Given the description of an element on the screen output the (x, y) to click on. 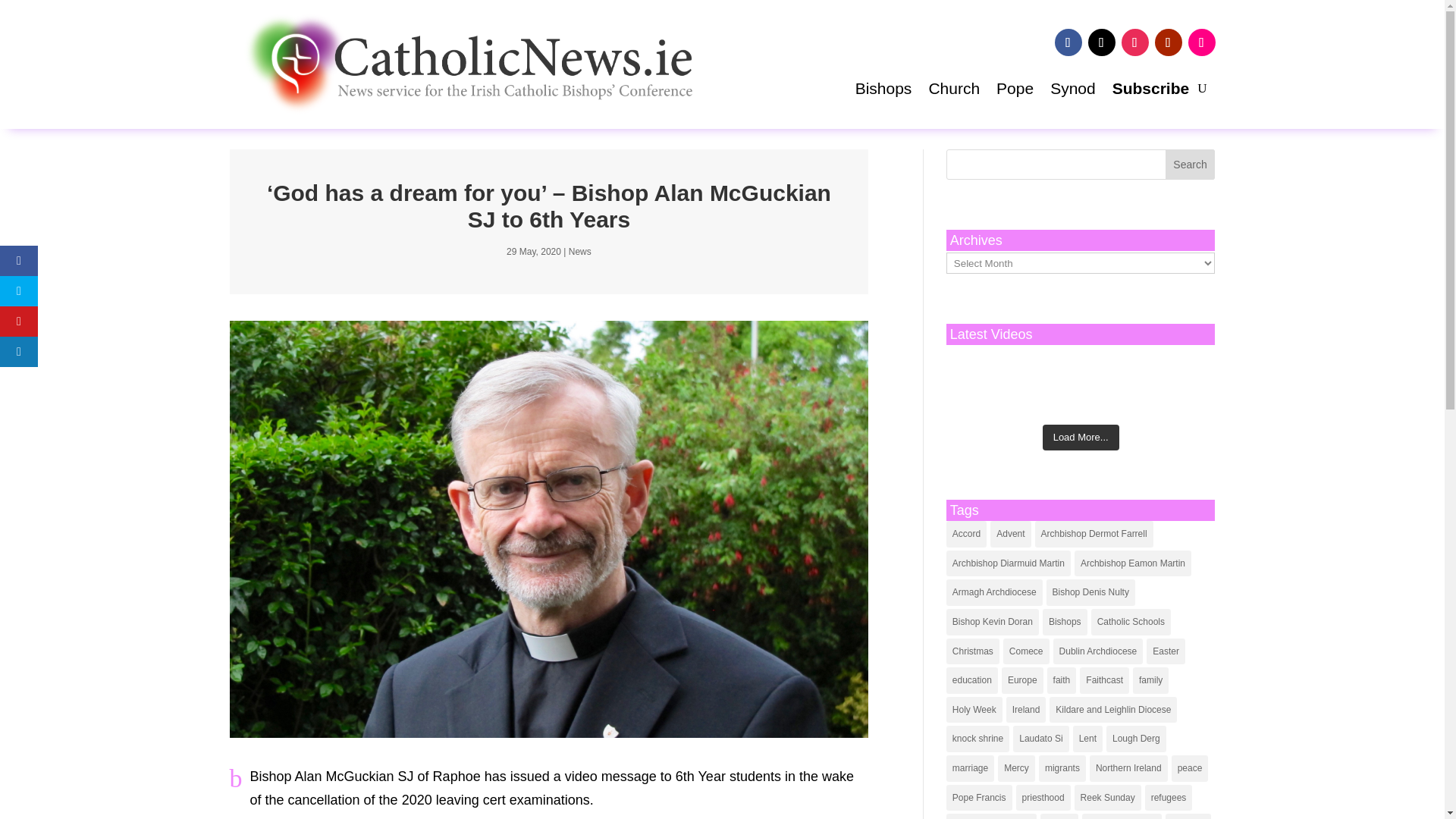
Archbishop Diarmuid Martin (1008, 563)
Synod (1072, 91)
Follow on Flickr (1201, 42)
Armagh Archdiocese (994, 592)
Bishops (884, 91)
Bishop Kevin Doran (992, 622)
Follow on Instagram (1134, 42)
Bishops (1064, 622)
Follow on X (1101, 42)
Catholic Schools (1130, 622)
Accord (966, 533)
News (580, 251)
Dublin Archdiocese (1097, 651)
Comece (1026, 651)
